Given the description of an element on the screen output the (x, y) to click on. 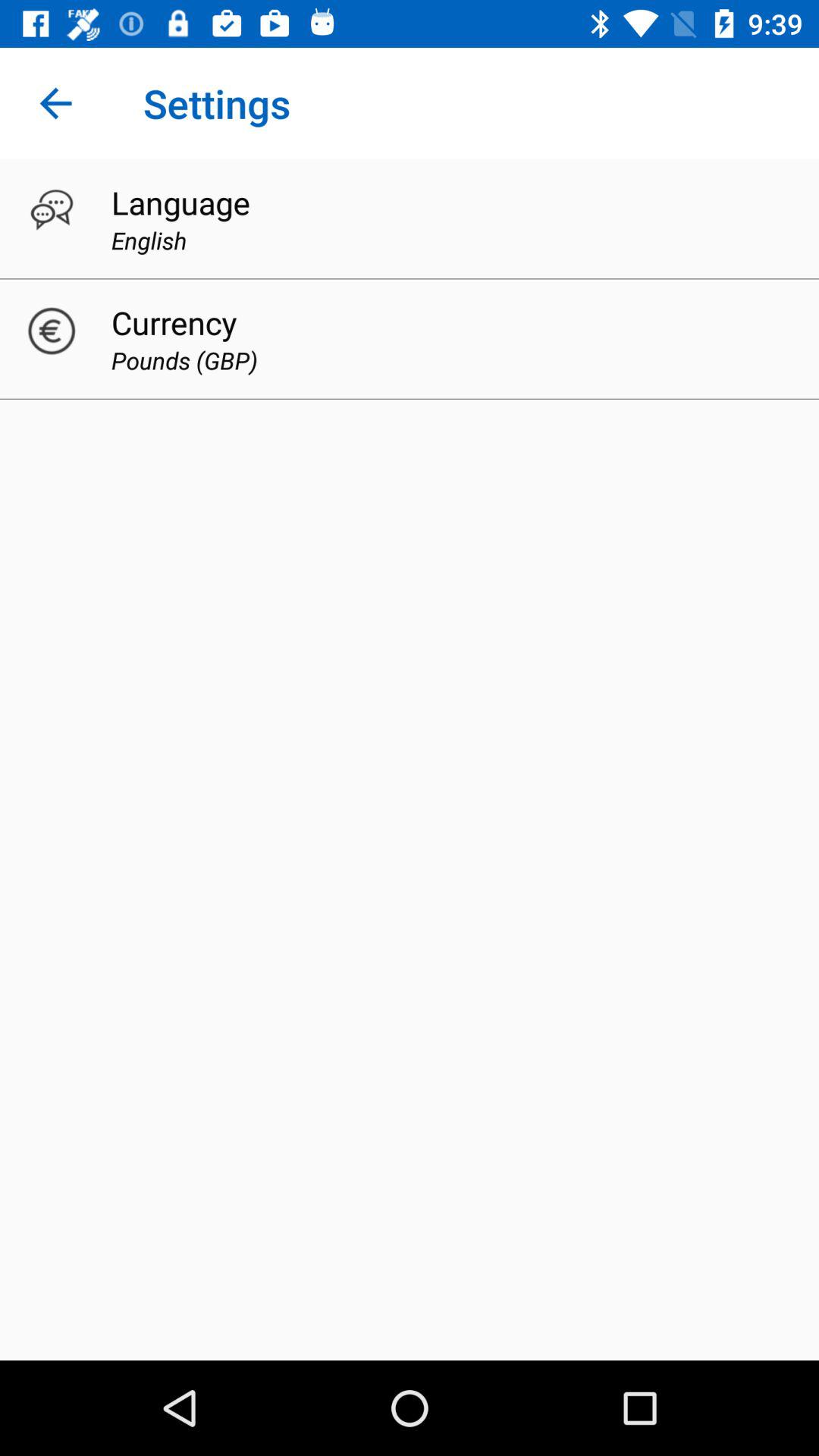
jump to the currency icon (174, 322)
